Given the description of an element on the screen output the (x, y) to click on. 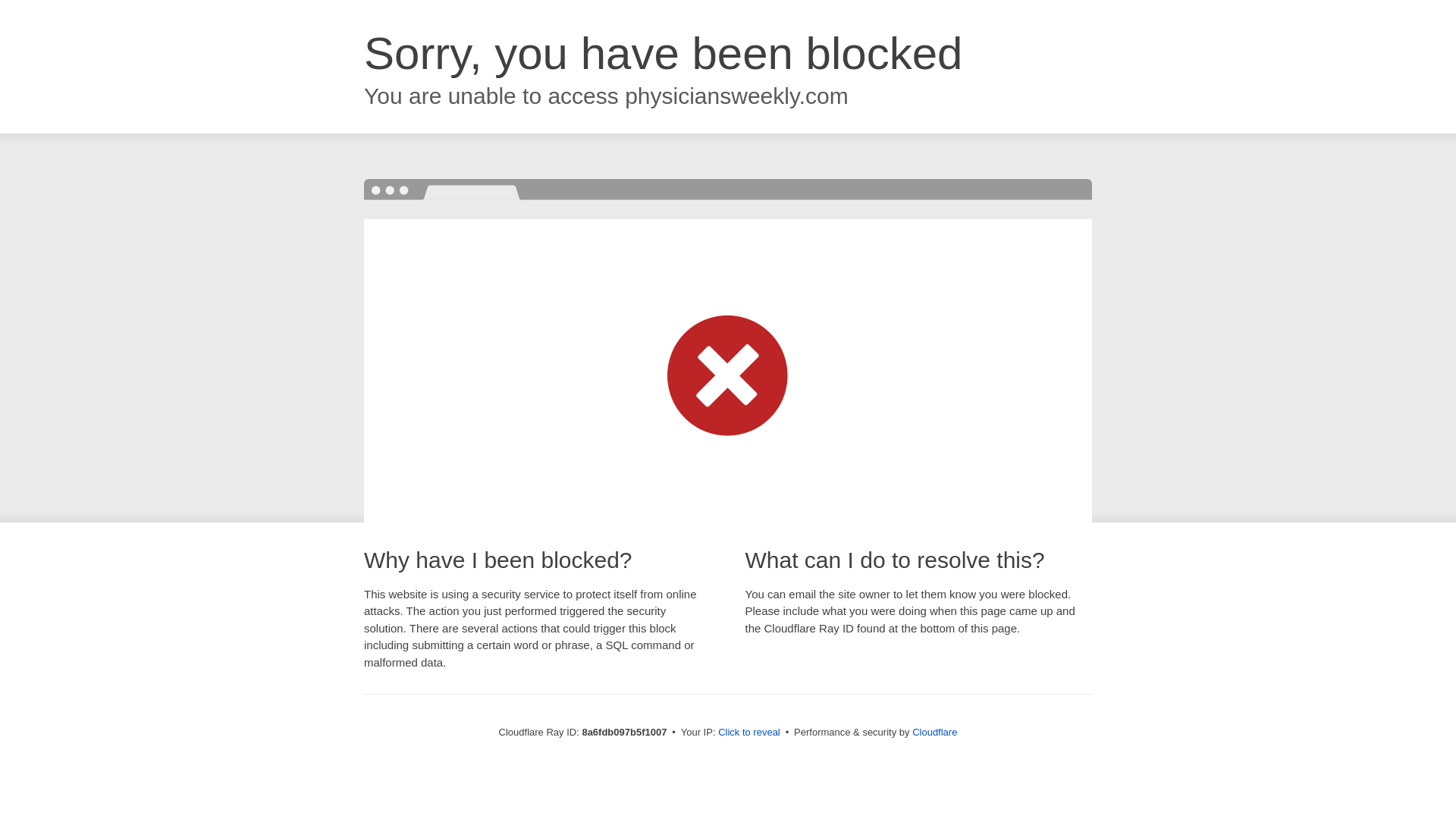
Cloudflare (934, 731)
Click to reveal (748, 732)
